Given the description of an element on the screen output the (x, y) to click on. 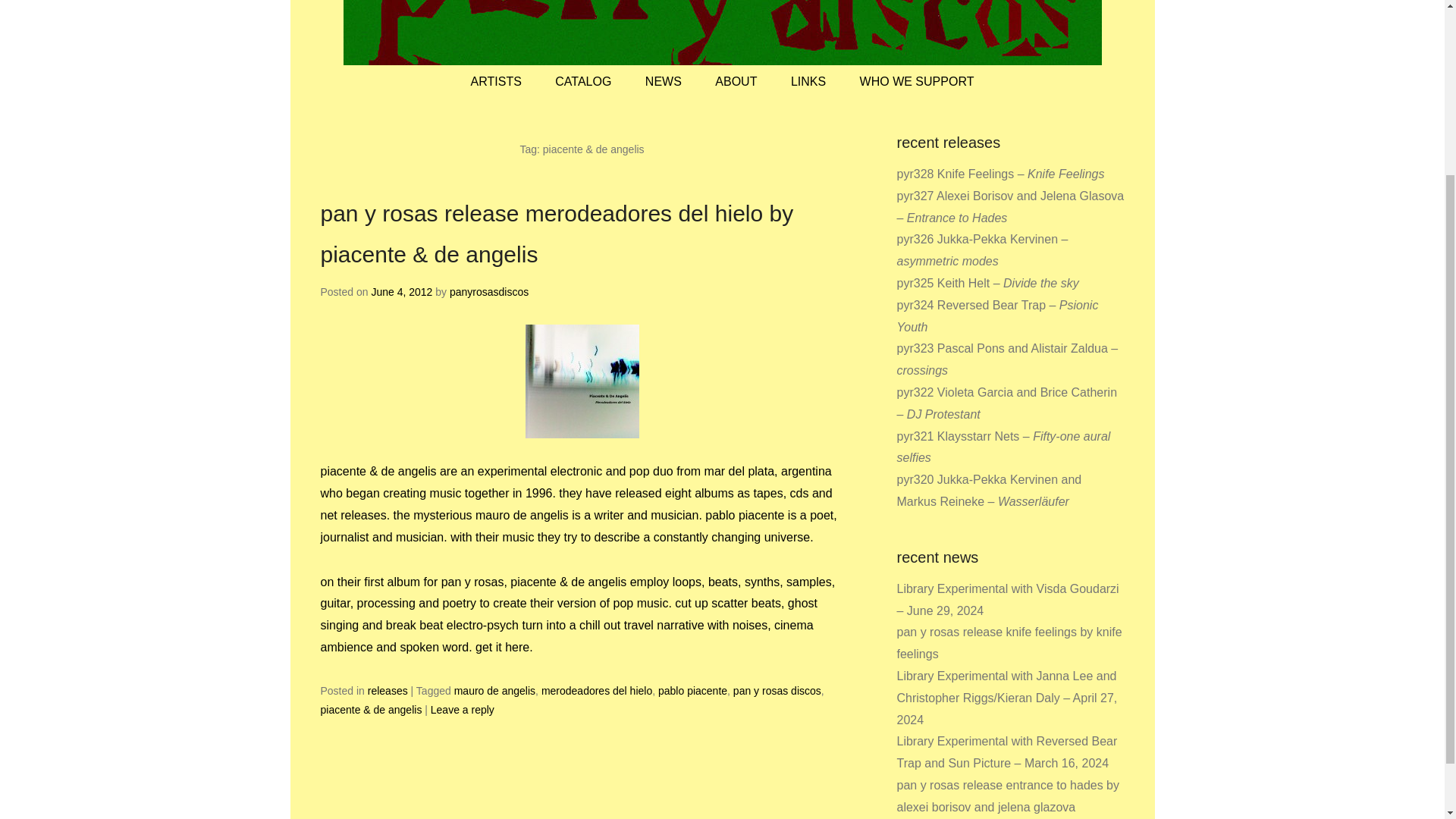
releases (387, 690)
WHO WE SUPPORT (917, 81)
mauro de angelis (494, 690)
LINKS (808, 81)
panyrosasdiscos (488, 291)
pan y rosas discos (777, 690)
merodeadores del hielo (596, 690)
6:01 pm (401, 291)
pablo piacente (692, 690)
Leave a reply (462, 709)
NEWS (663, 81)
June 4, 2012 (401, 291)
ARTISTS (496, 81)
ABOUT (735, 81)
